Given the description of an element on the screen output the (x, y) to click on. 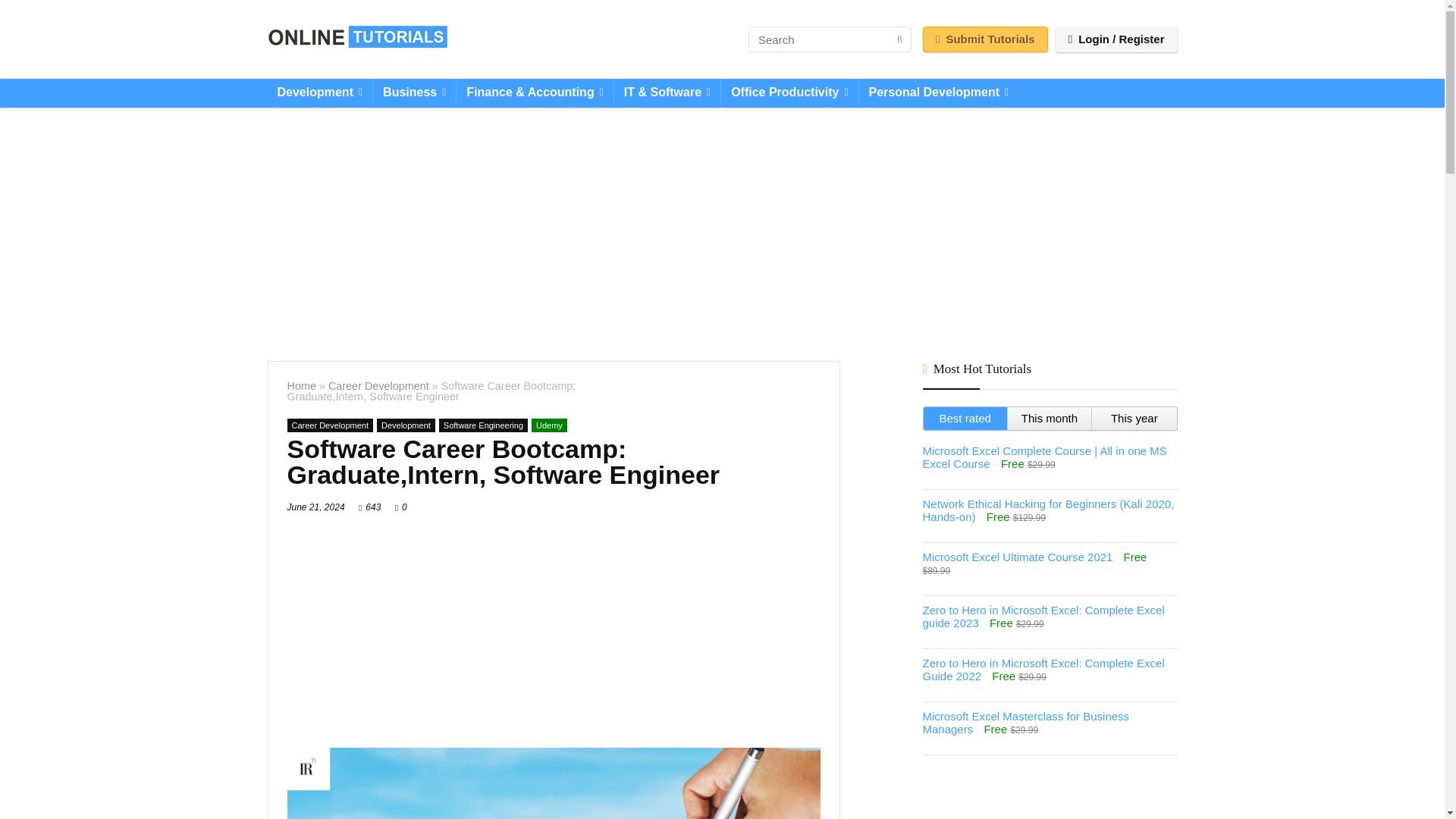
Advertisement (552, 630)
View all posts in Udemy (549, 425)
View all posts in Career Development (329, 425)
View all posts in Software Engineering (483, 425)
Development (319, 92)
View all posts in Development (406, 425)
Submit Tutorials (985, 39)
Business (413, 92)
Software Career Bootcamp: Graduate,Intern, Software Engineer (552, 783)
